Given the description of an element on the screen output the (x, y) to click on. 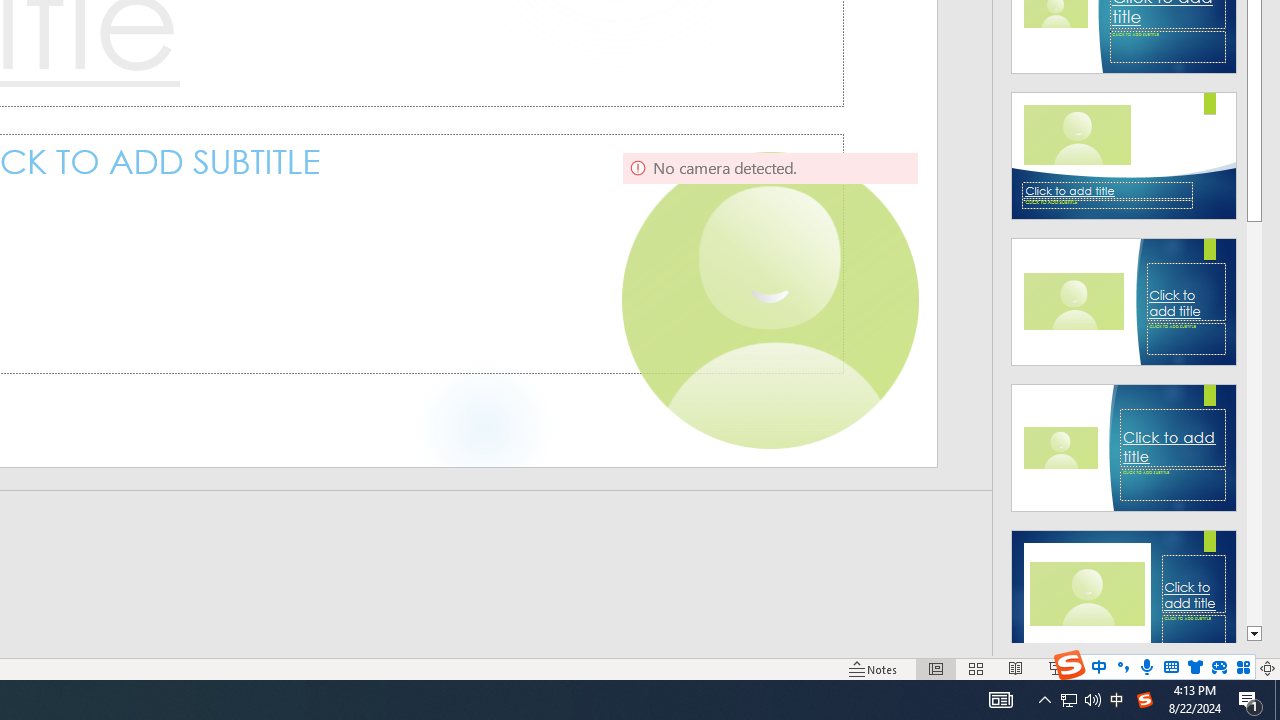
Line down (1254, 633)
Zoom (1144, 668)
Zoom to Fit  (1267, 668)
Zoom In (1204, 668)
Zoom Out (1121, 668)
Normal (936, 668)
Reading View (1015, 668)
Page down (1254, 423)
Class: NetUIImage (1124, 593)
Zoom 140% (1234, 668)
Slide Sorter (975, 668)
Notes  (874, 668)
Design Idea (1124, 587)
